Given the description of an element on the screen output the (x, y) to click on. 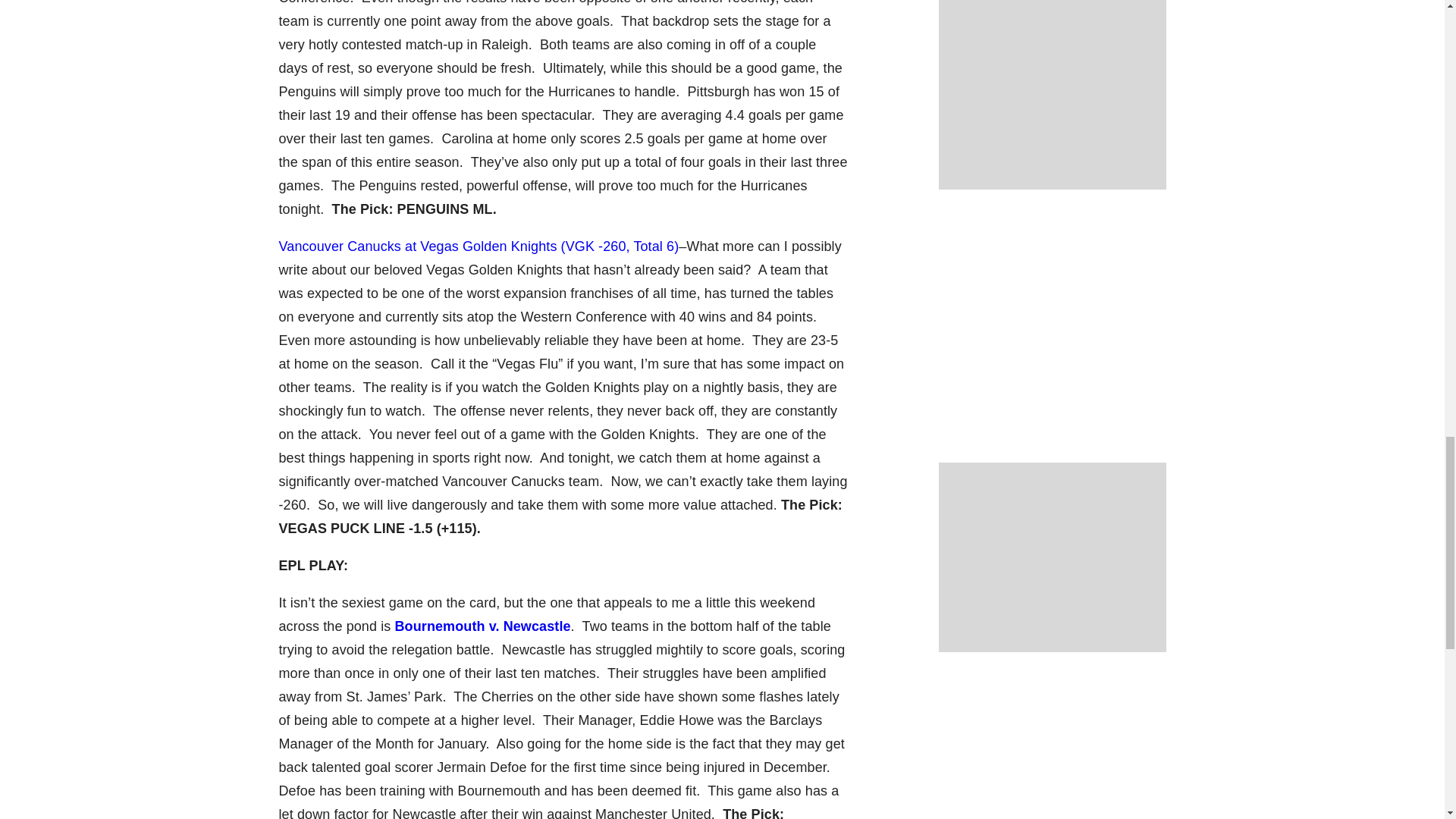
Bournemouth v. Newcastle (482, 626)
